Given the description of an element on the screen output the (x, y) to click on. 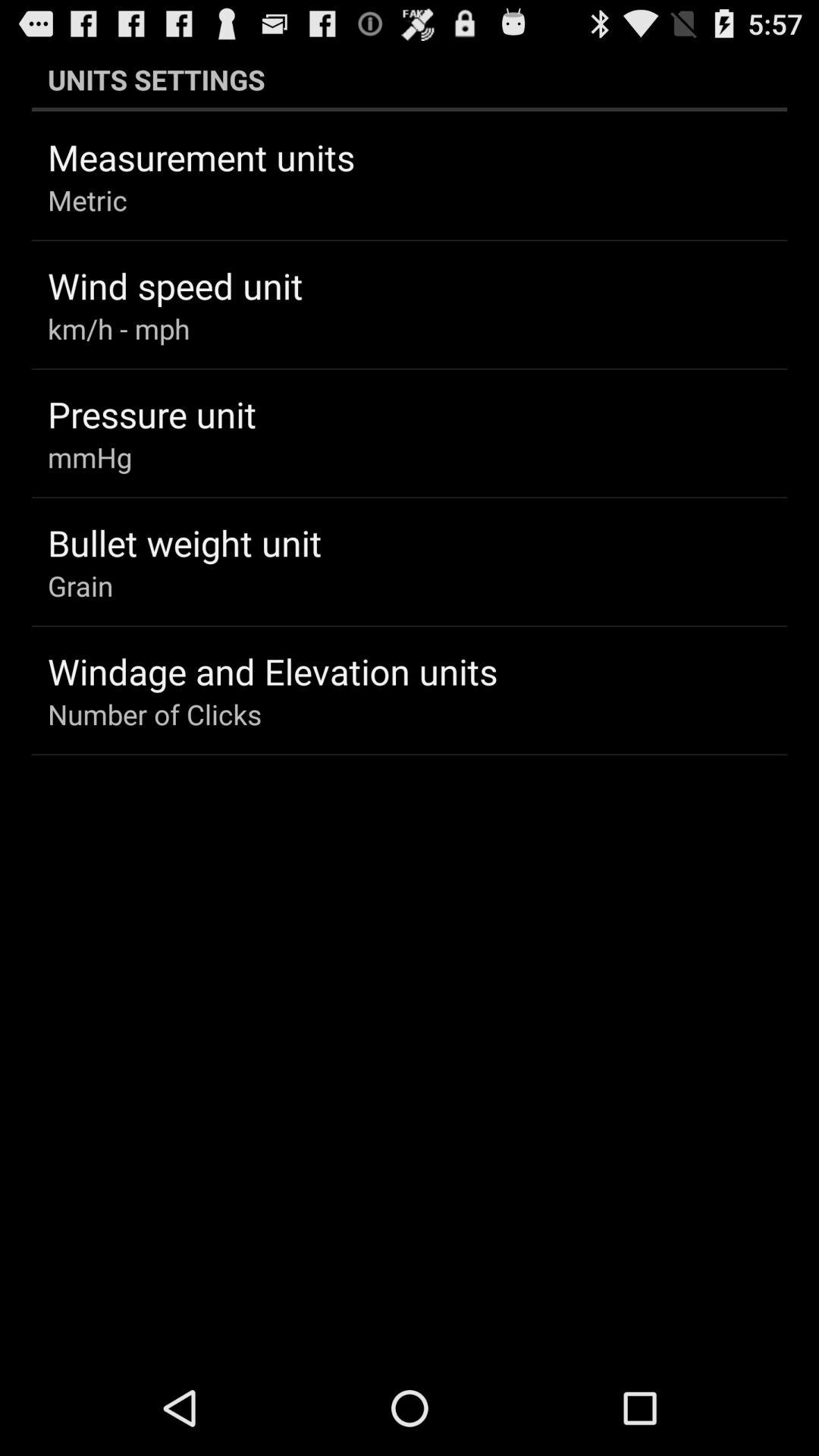
scroll until the bullet weight unit icon (184, 542)
